Given the description of an element on the screen output the (x, y) to click on. 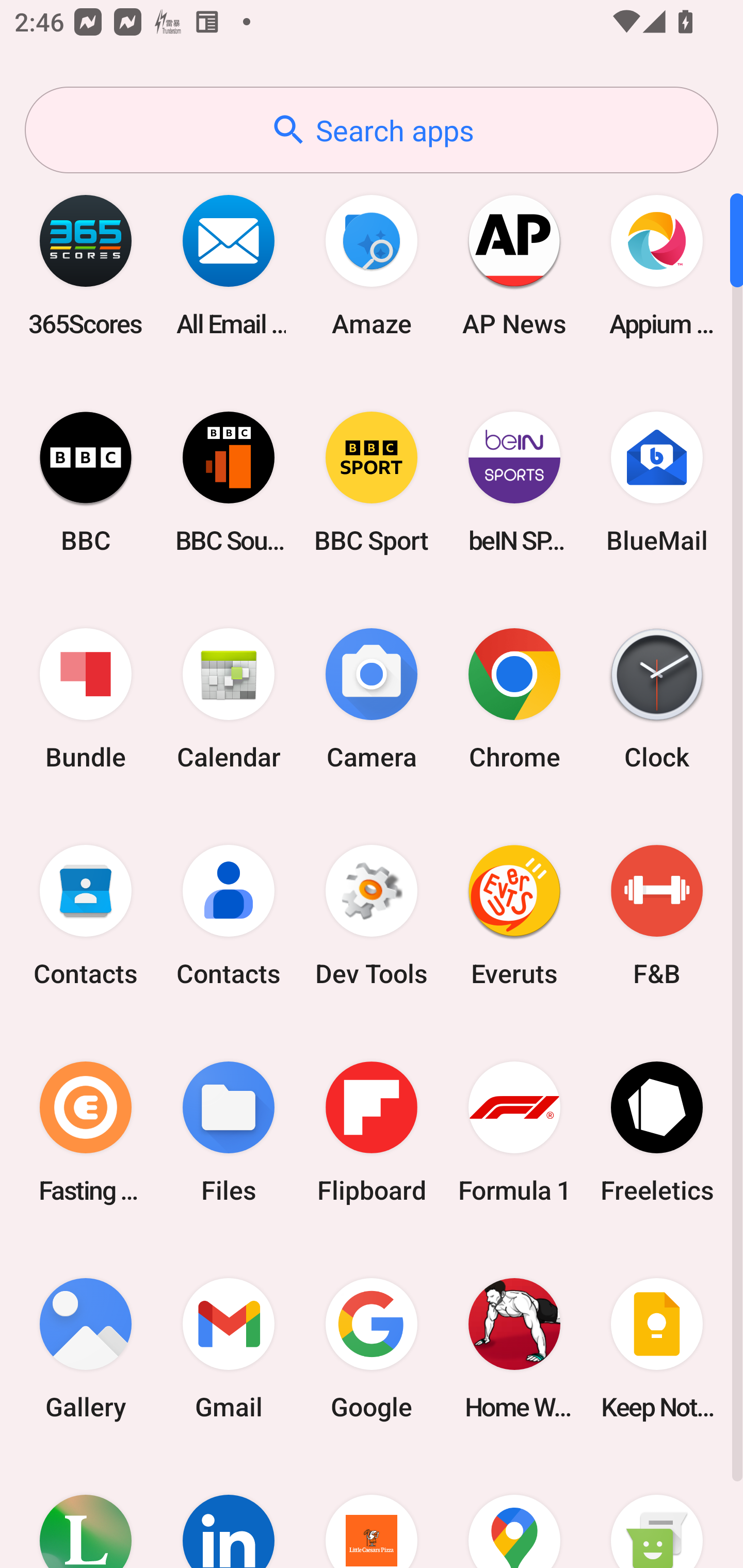
  Search apps (371, 130)
365Scores (85, 264)
All Email Connect (228, 264)
Amaze (371, 264)
AP News (514, 264)
Appium Settings (656, 264)
BBC (85, 482)
BBC Sounds (228, 482)
BBC Sport (371, 482)
beIN SPORTS (514, 482)
BlueMail (656, 482)
Bundle (85, 699)
Calendar (228, 699)
Camera (371, 699)
Chrome (514, 699)
Clock (656, 699)
Contacts (85, 915)
Contacts (228, 915)
Dev Tools (371, 915)
Everuts (514, 915)
F&B (656, 915)
Fasting Coach (85, 1131)
Files (228, 1131)
Flipboard (371, 1131)
Formula 1 (514, 1131)
Freeletics (656, 1131)
Gallery (85, 1348)
Gmail (228, 1348)
Google (371, 1348)
Home Workout (514, 1348)
Keep Notes (656, 1348)
